Given the description of an element on the screen output the (x, y) to click on. 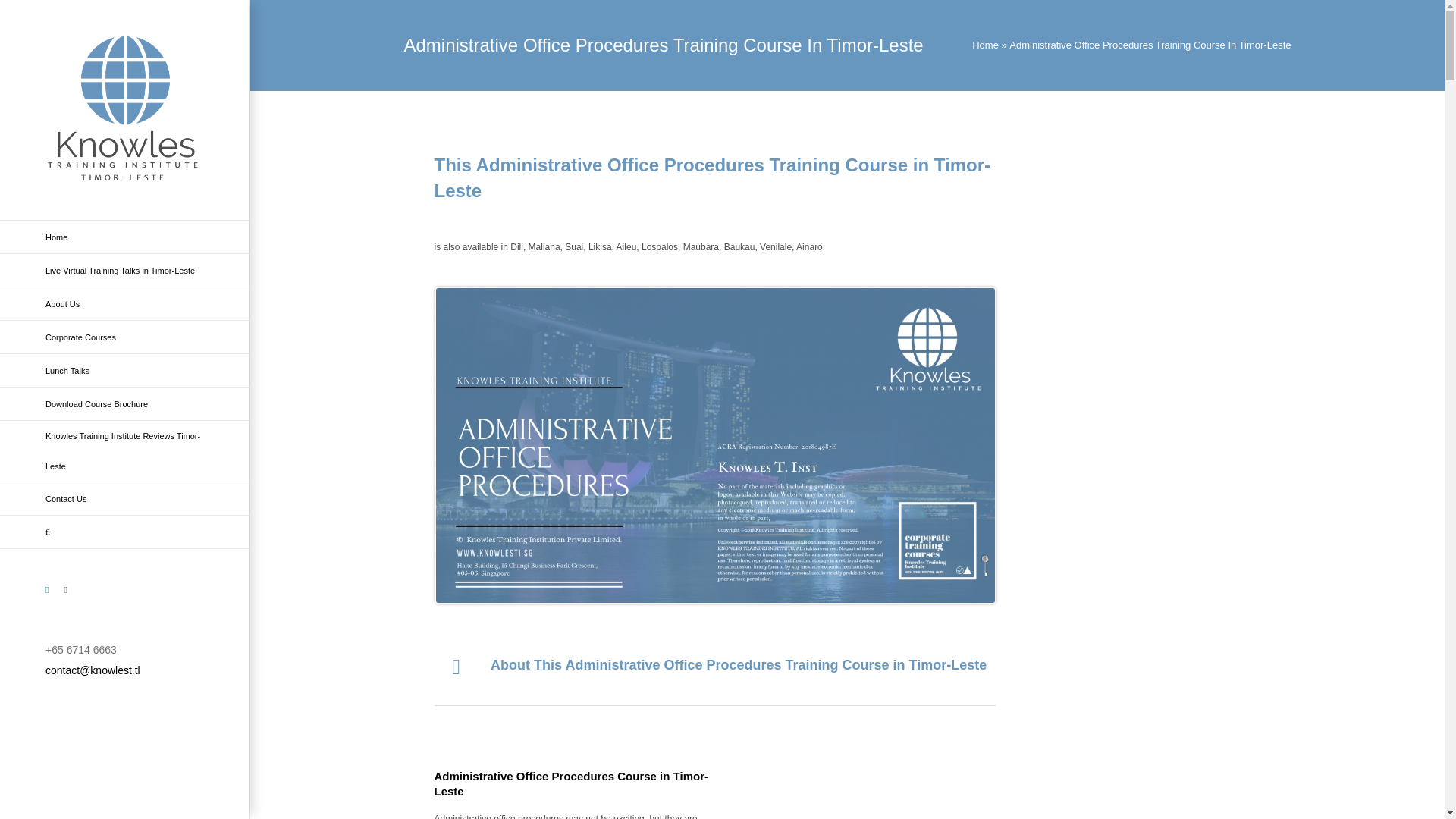
Live Virtual Training Talks in Timor-Leste (125, 270)
Lunch Talks (125, 370)
About Us (125, 304)
Knowles Training Institute Reviews Timor-Leste (125, 451)
Vimeo video player 1 (942, 788)
Contact Us (125, 498)
Home (125, 236)
Corporate Courses (125, 337)
Home (985, 44)
